Given the description of an element on the screen output the (x, y) to click on. 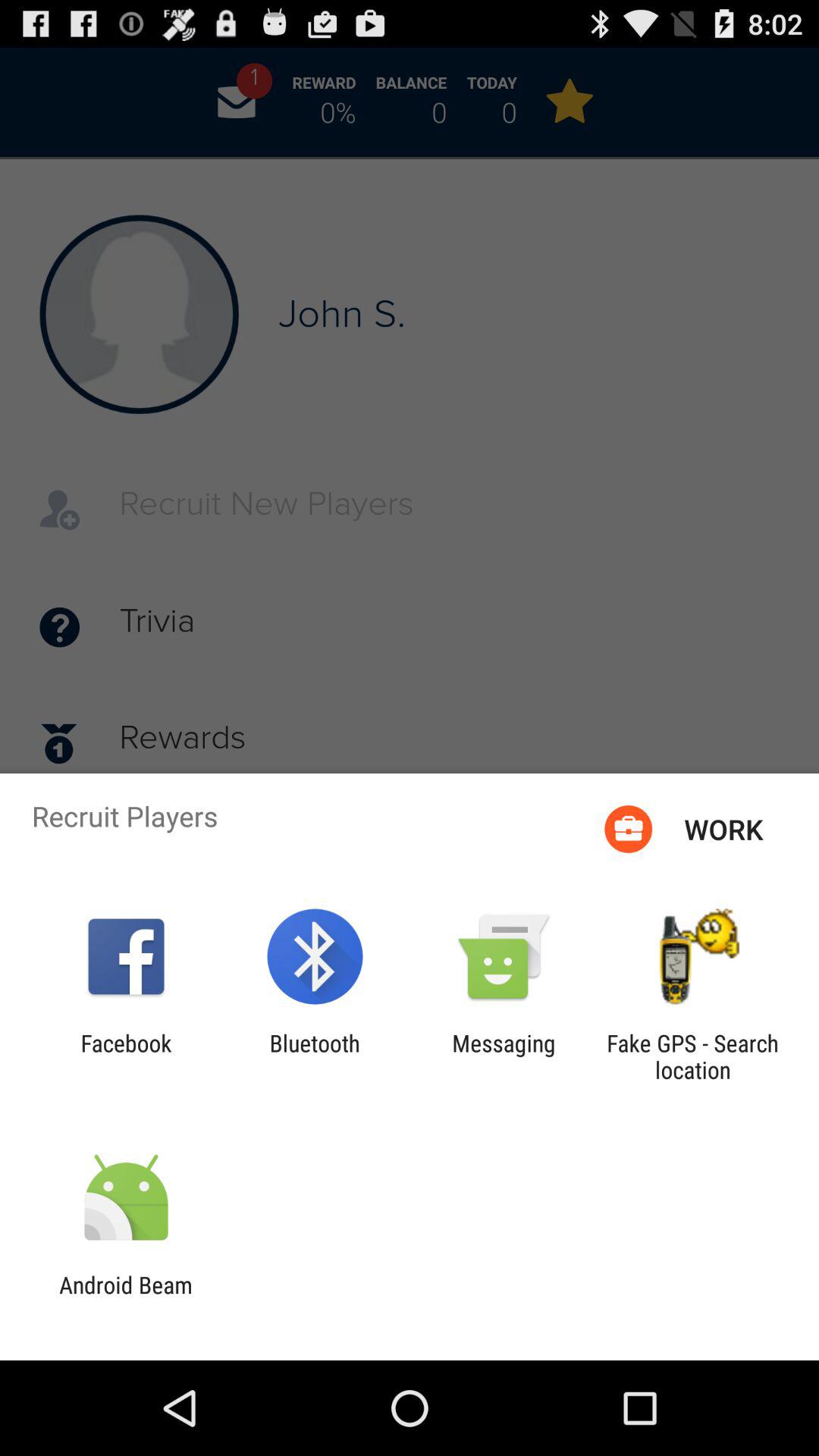
choose app to the right of the messaging app (692, 1056)
